Given the description of an element on the screen output the (x, y) to click on. 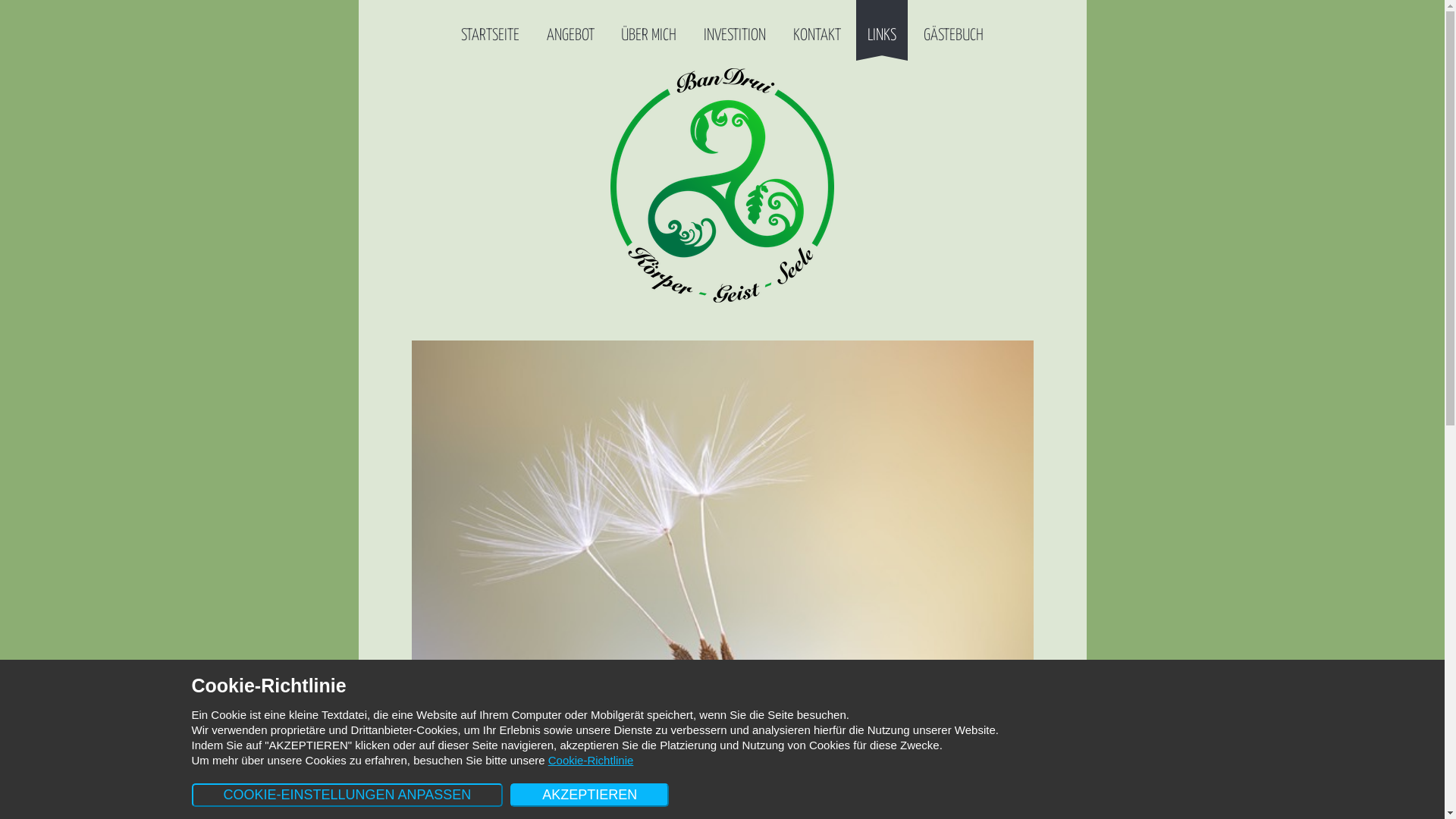
STARTSEITE Element type: text (489, 26)
COOKIE-EINSTELLUNGEN ANPASSEN Element type: text (346, 794)
LINKS Element type: text (881, 26)
Cookie-Richtlinie Element type: text (590, 759)
ANGEBOT Element type: text (570, 26)
AKZEPTIEREN Element type: text (589, 794)
KONTAKT Element type: text (816, 26)
INVESTITION Element type: text (734, 26)
